Given the description of an element on the screen output the (x, y) to click on. 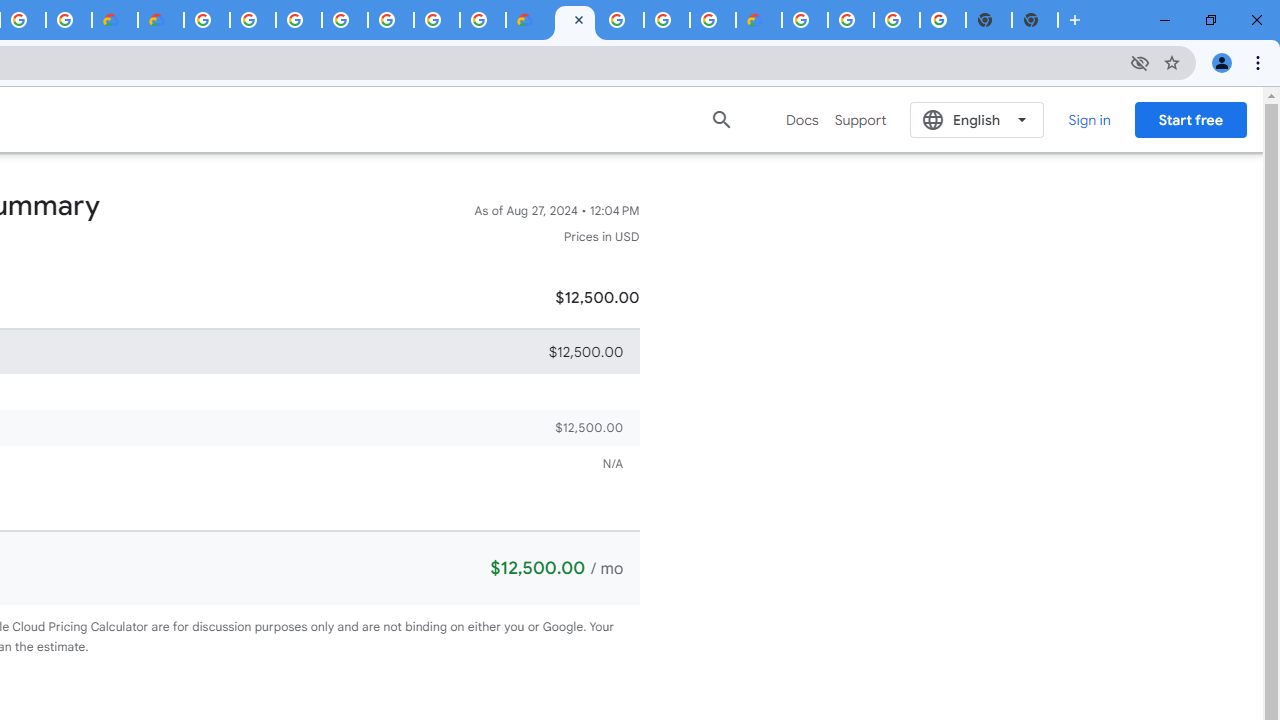
Customer Care | Google Cloud (528, 20)
Search (722, 119)
